Given the description of an element on the screen output the (x, y) to click on. 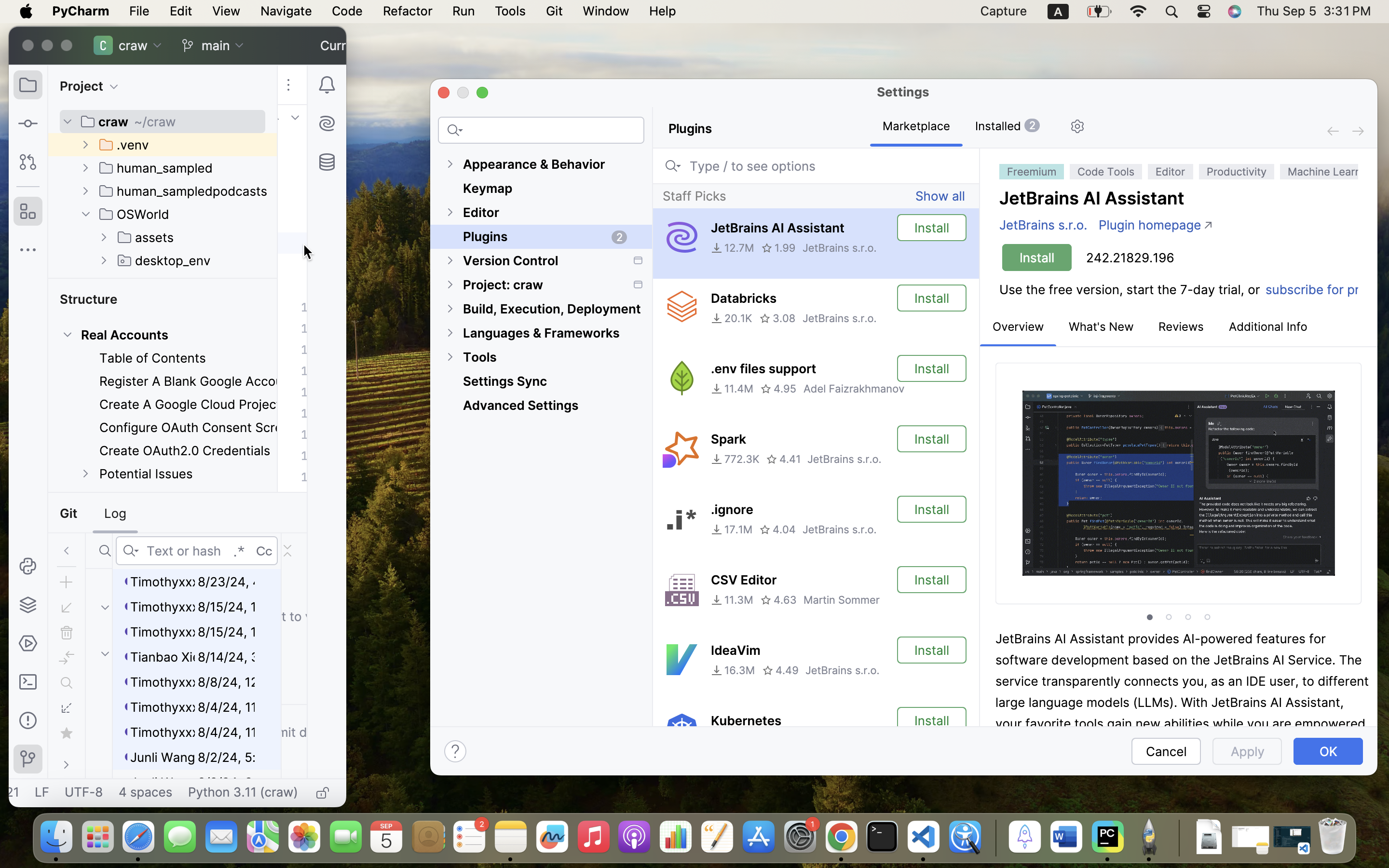
11.4M Element type: AXStaticText (731, 388)
6.7M Element type: AXStaticText (729, 740)
1.99 Element type: AXStaticText (778, 247)
4.95 Element type: AXStaticText (778, 388)
12.7M Element type: AXStaticText (732, 247)
